Given the description of an element on the screen output the (x, y) to click on. 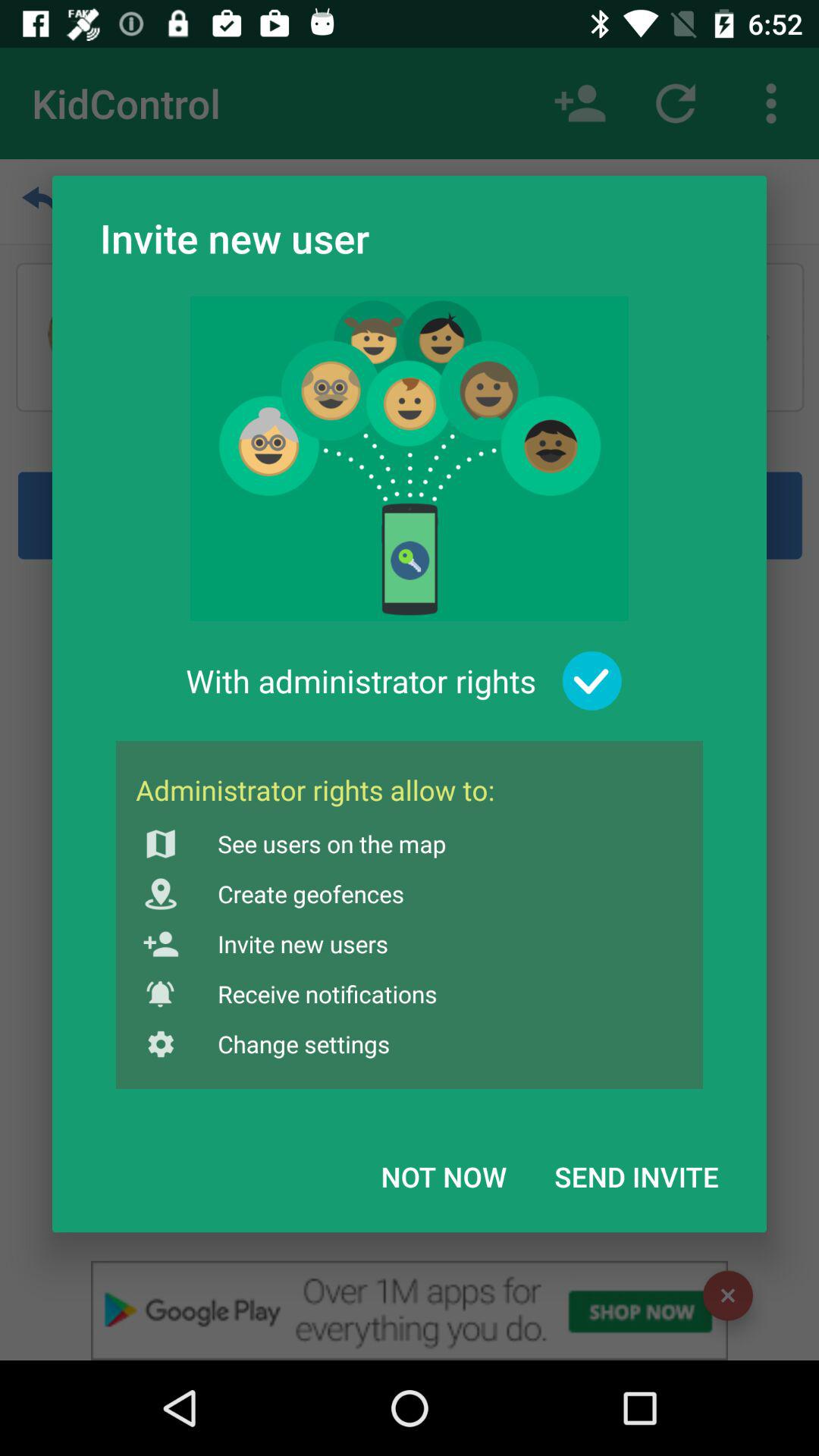
flip until not now (443, 1176)
